Given the description of an element on the screen output the (x, y) to click on. 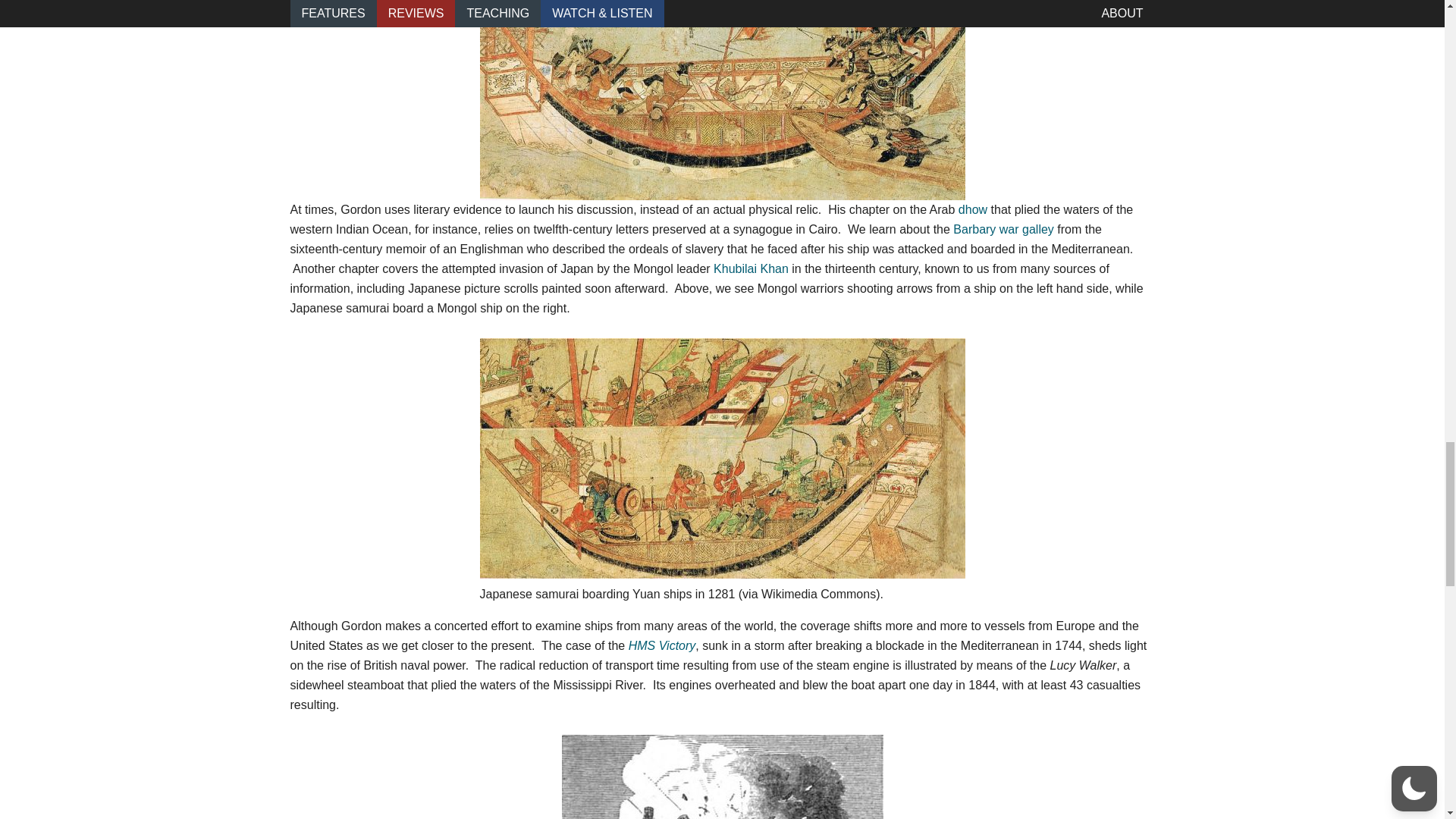
Khubilai Khan (752, 268)
Barbary war galley (1003, 228)
dhow (972, 209)
HMS Victory (661, 645)
